Given the description of an element on the screen output the (x, y) to click on. 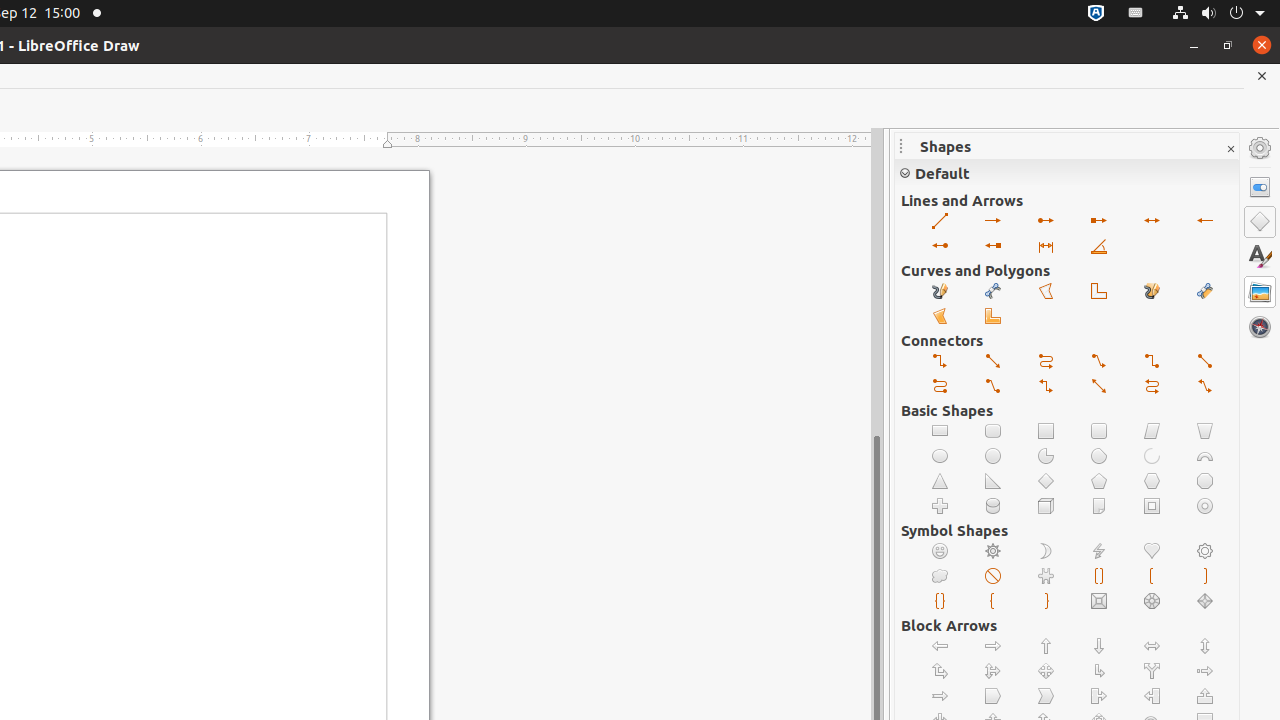
Curve, Filled Element type: list-item (1205, 291)
System Element type: menu (1218, 13)
Circle Segment Element type: list-item (1099, 456)
Freeform Line Element type: list-item (940, 291)
Notched Right Arrow Element type: list-item (940, 696)
